Given the description of an element on the screen output the (x, y) to click on. 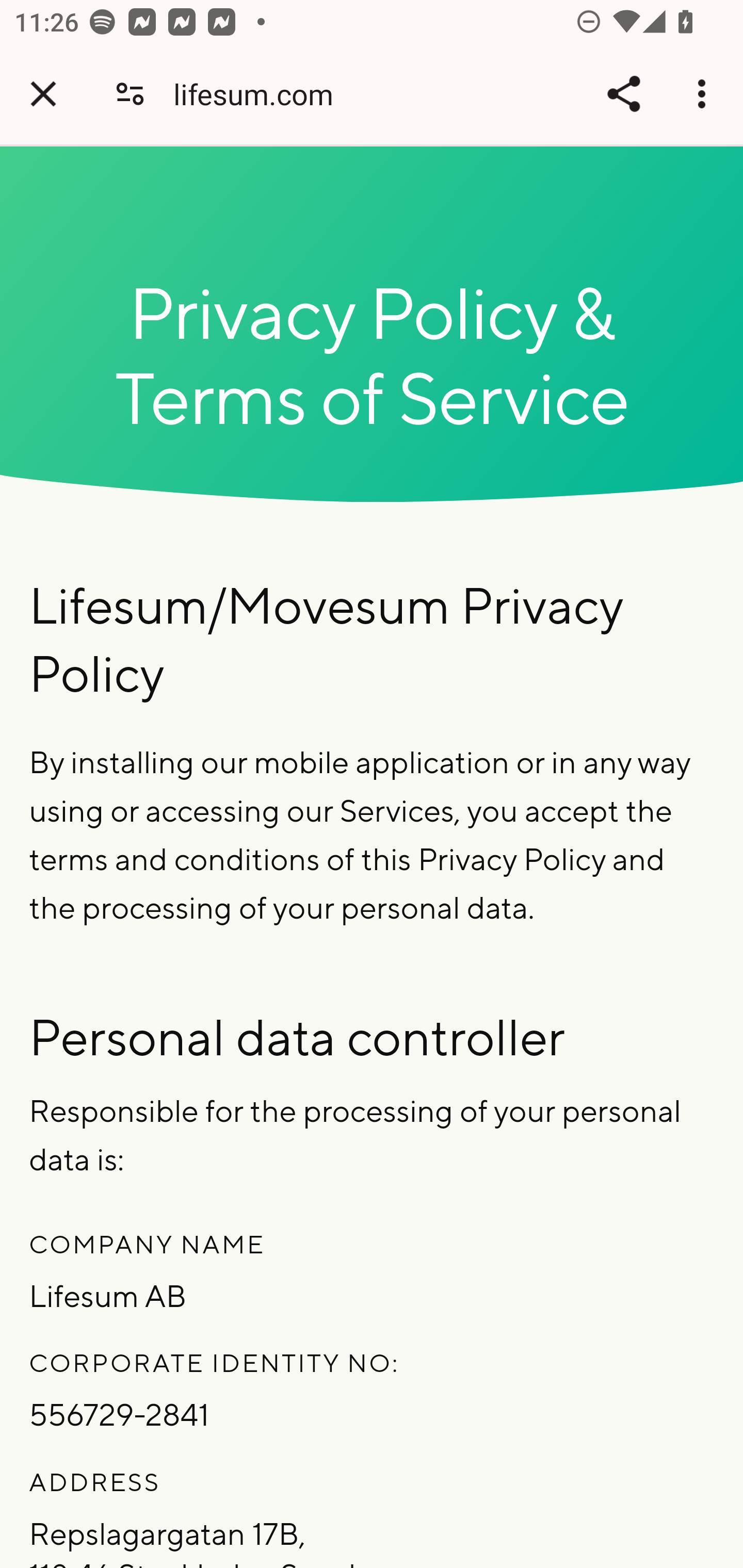
Close tab (43, 93)
Share (623, 93)
Customize and control Google Chrome (705, 93)
Connection is secure (129, 93)
lifesum.com (260, 93)
